Given the description of an element on the screen output the (x, y) to click on. 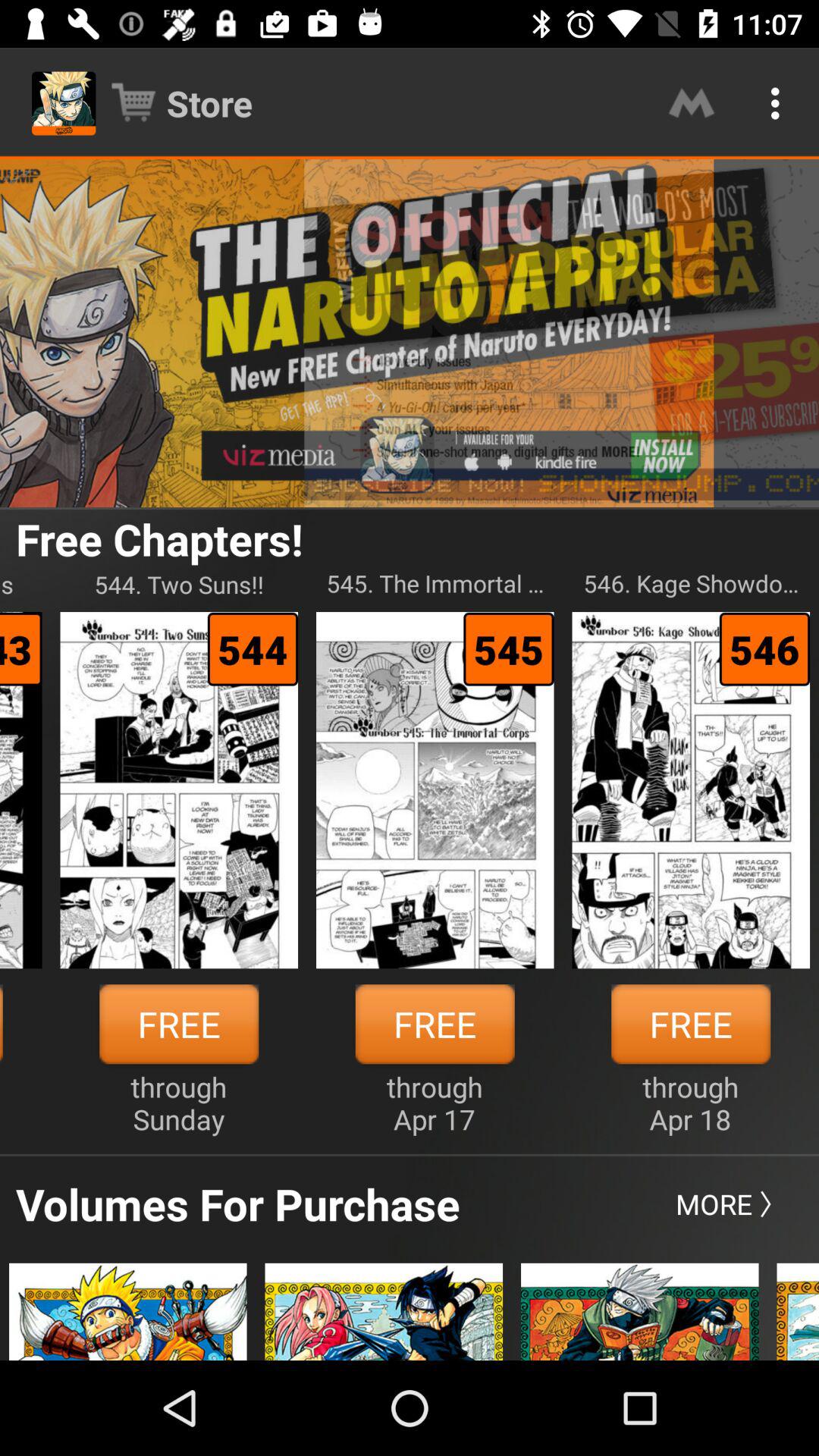
tap icon below through
sunday (237, 1203)
